Given the description of an element on the screen output the (x, y) to click on. 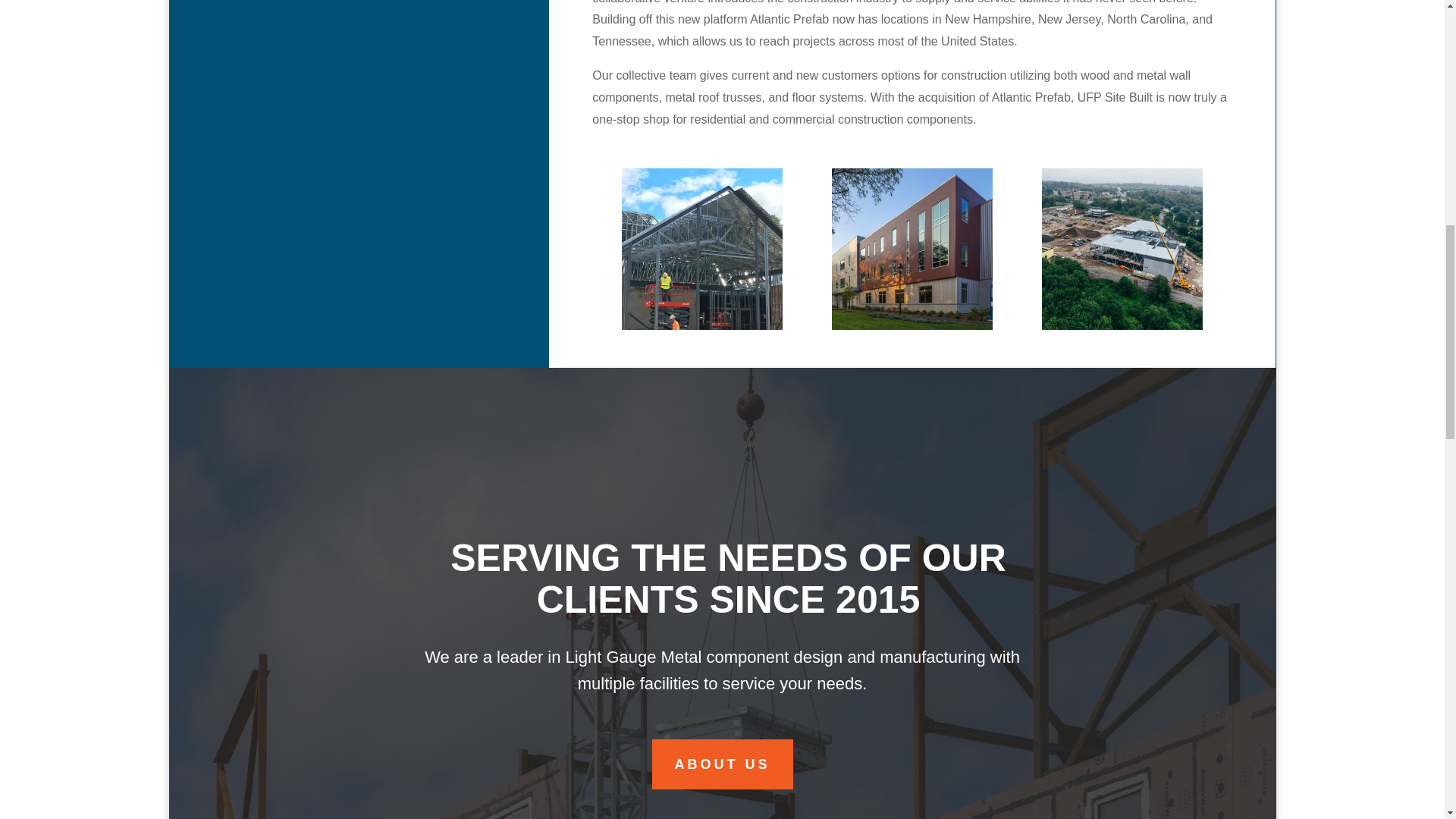
Hudson Police Department (702, 248)
Crowe Hall at Merrimack College (911, 248)
Apex of New England Center (1122, 248)
ABOUT US (722, 763)
